Given the description of an element on the screen output the (x, y) to click on. 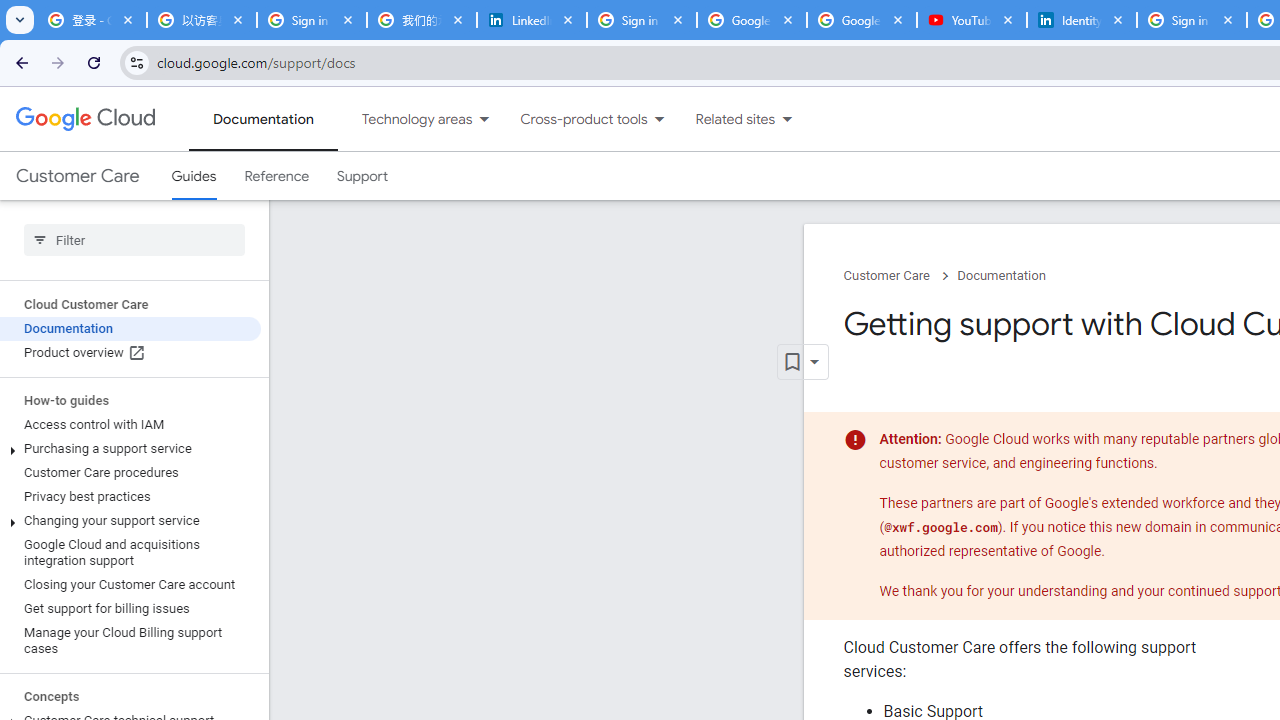
Type to filter (134, 239)
